Given the description of an element on the screen output the (x, y) to click on. 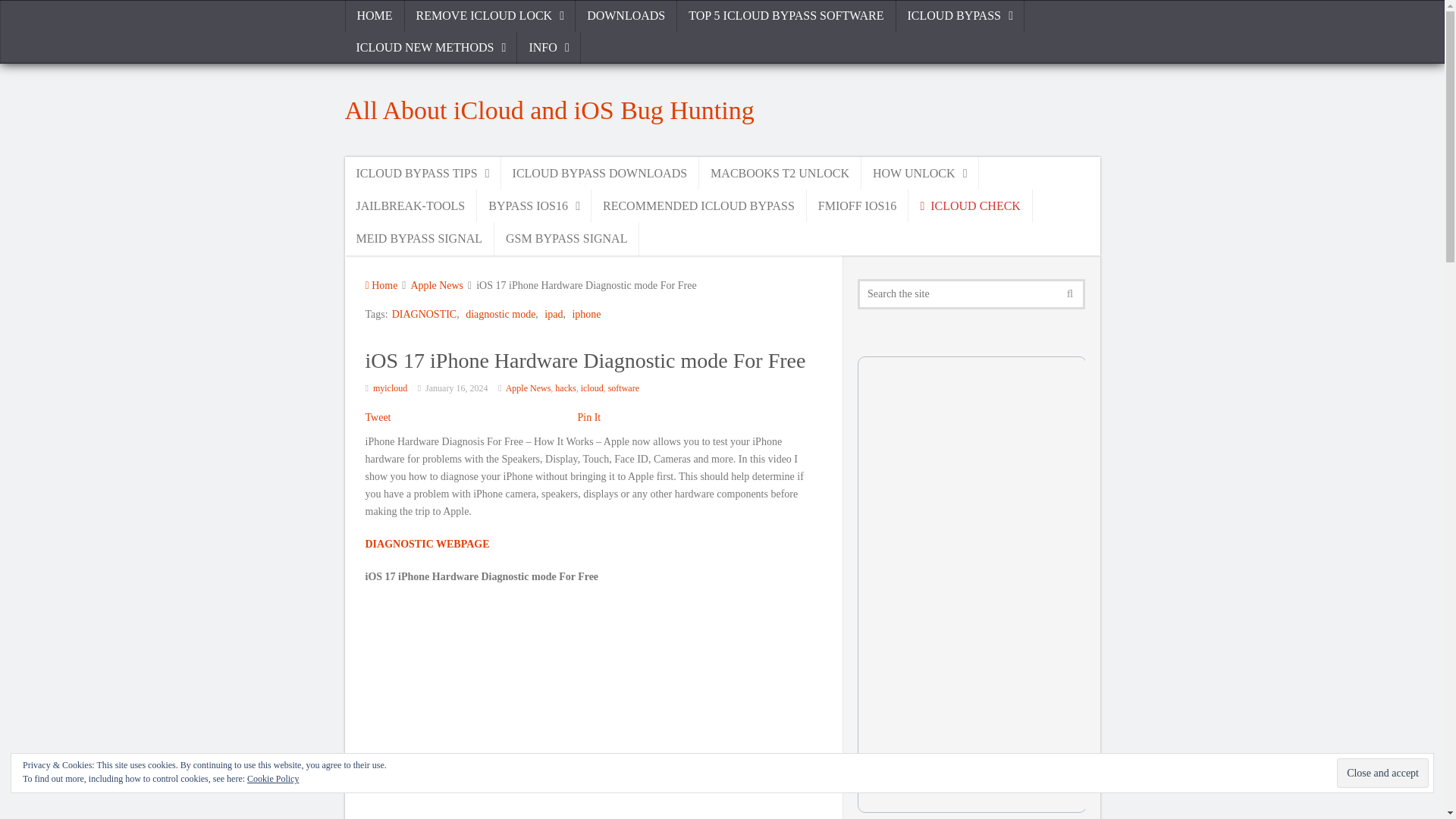
View all posts in software (623, 388)
ICLOUD BYPASS TIPS (421, 173)
HOME (373, 15)
DOWNLOADS (626, 15)
ICLOUD BYPASS (960, 15)
BYPASS IOS16 (534, 205)
MACBOOKS T2 UNLOCK (779, 173)
ICLOUD NEW METHODS (429, 47)
TOP 5 ICLOUD BYPASS SOFTWARE (786, 15)
iCloud Bypass New Methods (429, 47)
JAILBREAK-TOOLS (410, 205)
Close and accept (1382, 772)
ICLOUD BYPASS DOWNLOADS (600, 173)
View all posts in hacks (564, 388)
View all posts in icloud (592, 388)
